Given the description of an element on the screen output the (x, y) to click on. 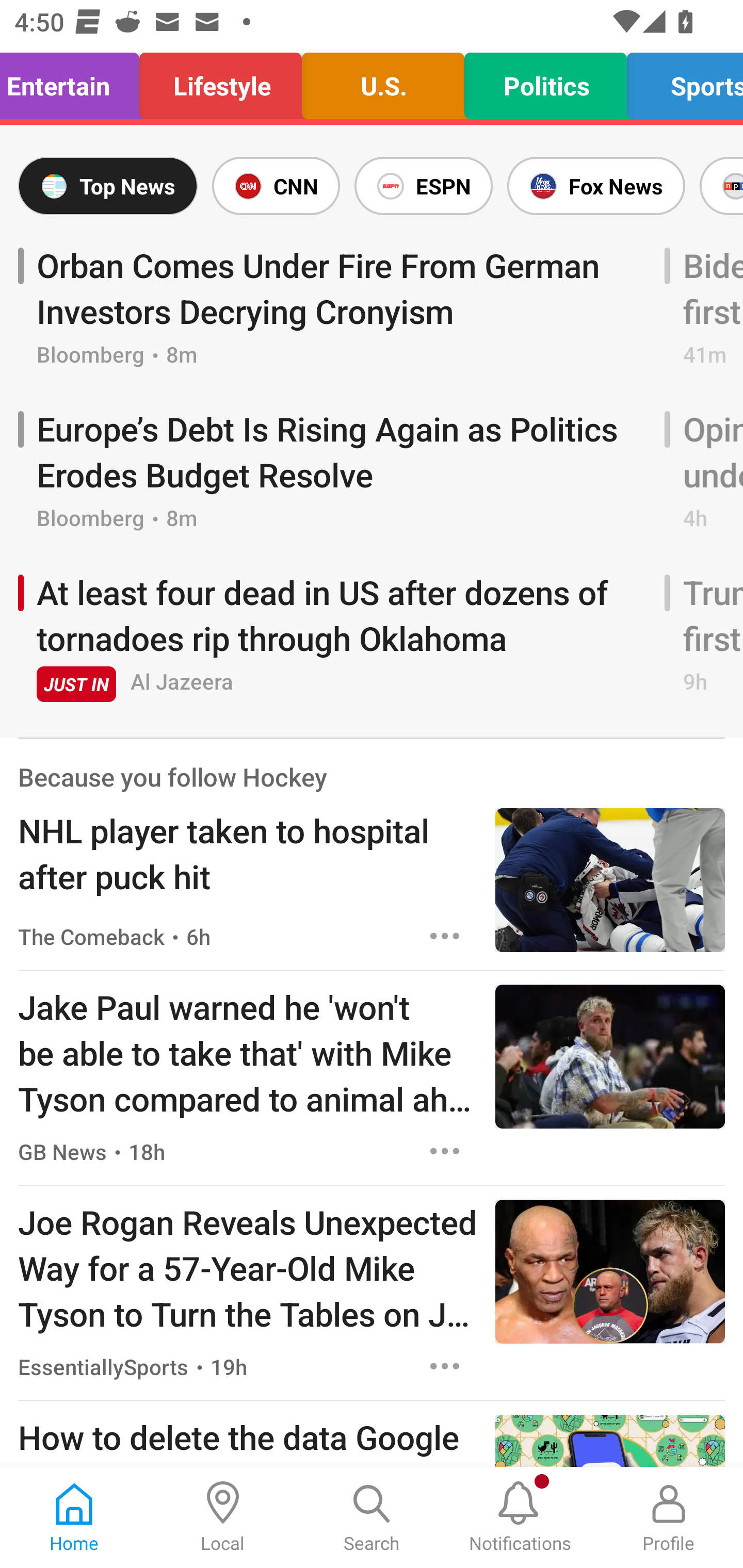
Entertain (75, 81)
Lifestyle (220, 81)
U.S. (383, 81)
Politics (545, 81)
Sports (679, 81)
CNN (275, 185)
ESPN (423, 185)
Fox News (596, 185)
JUST IN (75, 684)
Because you follow Hockey (171, 776)
Options (444, 936)
Options (444, 1150)
Options (444, 1366)
Local (222, 1517)
Search (371, 1517)
Notifications, New notification Notifications (519, 1517)
Profile (668, 1517)
